Given the description of an element on the screen output the (x, y) to click on. 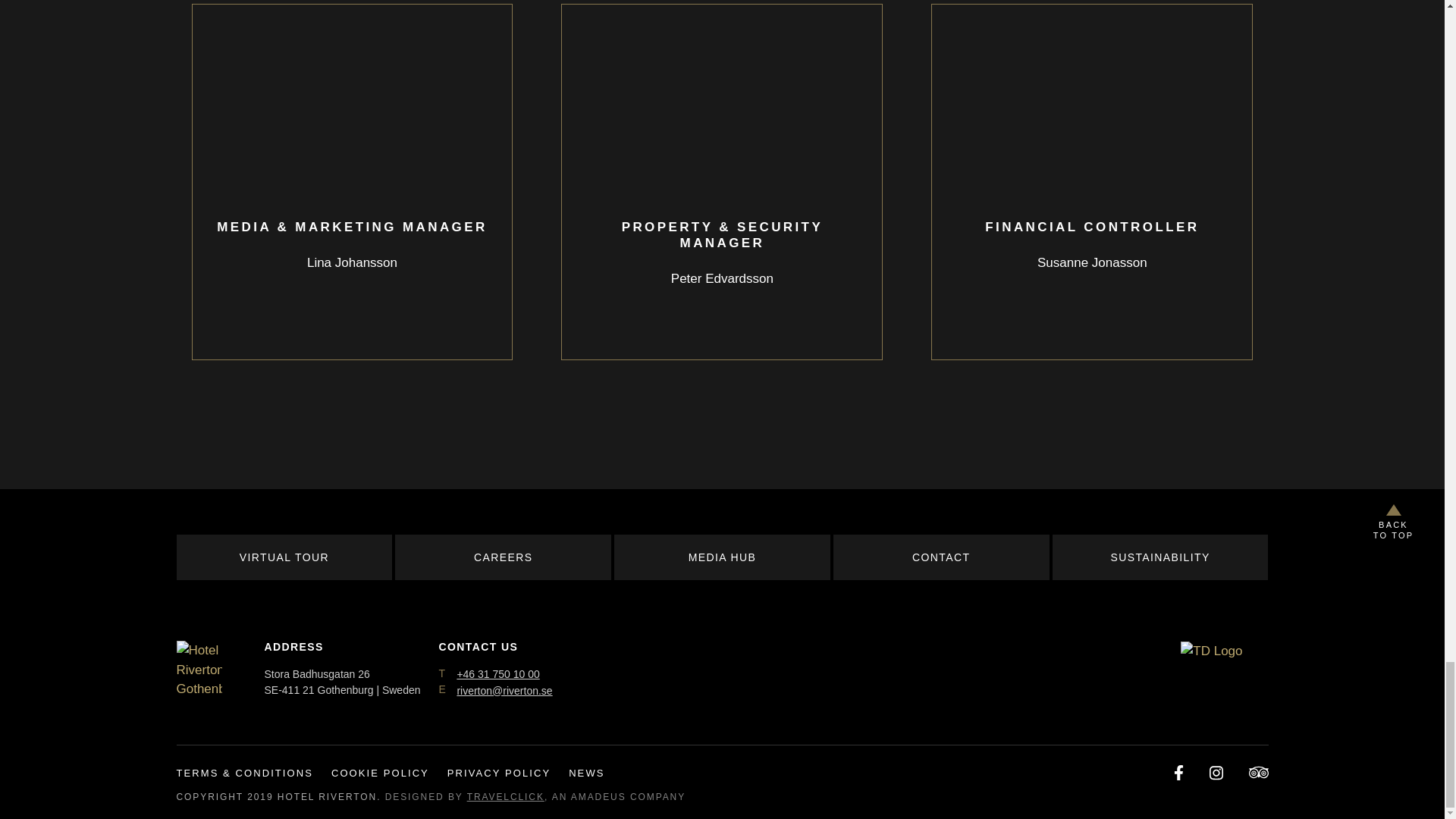
BACK TO TOP (1393, 522)
